Given the description of an element on the screen output the (x, y) to click on. 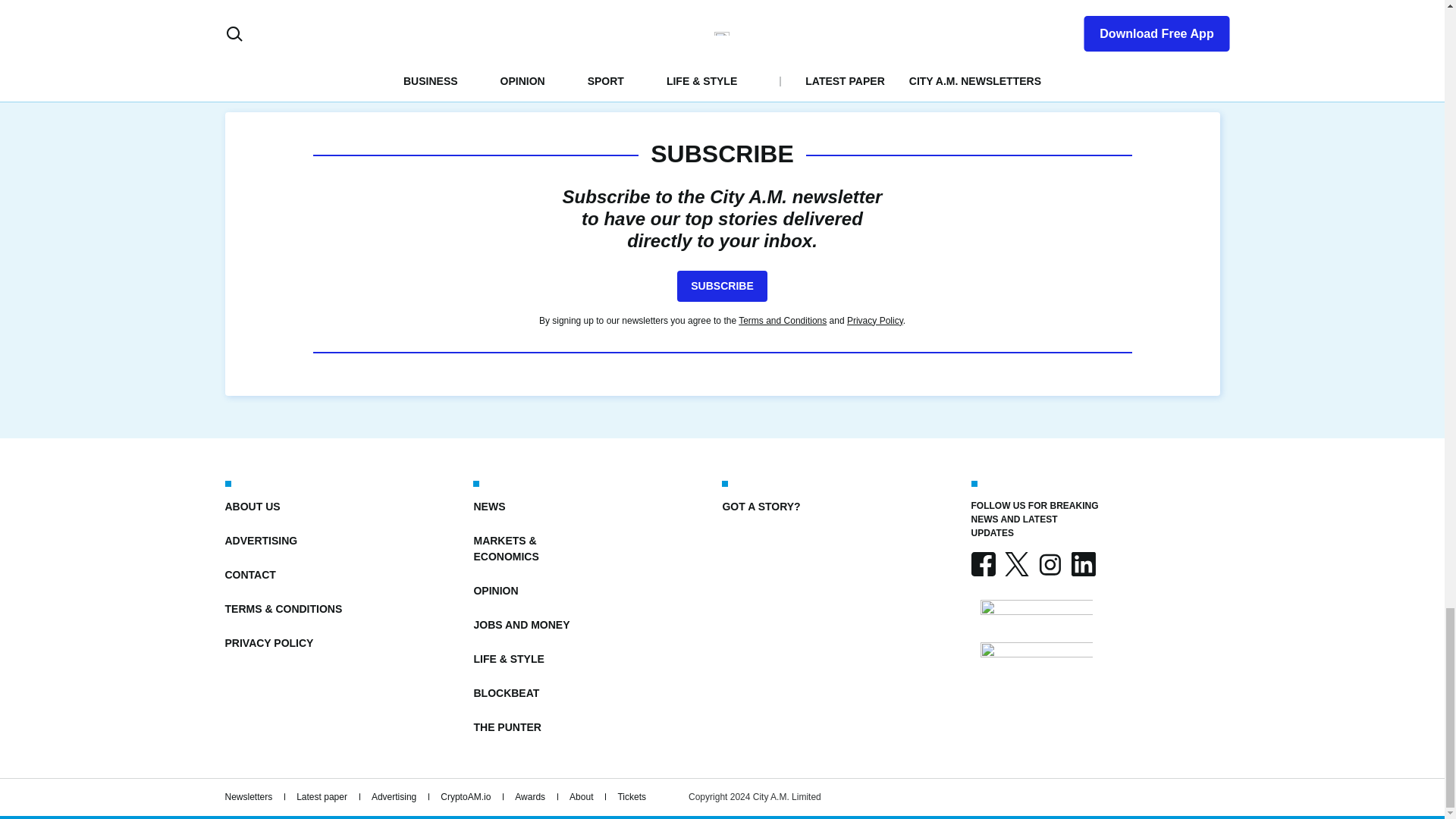
LINKEDIN (1082, 564)
FACEBOOK (982, 564)
X (1015, 564)
INSTAGRAM (1048, 564)
